Given the description of an element on the screen output the (x, y) to click on. 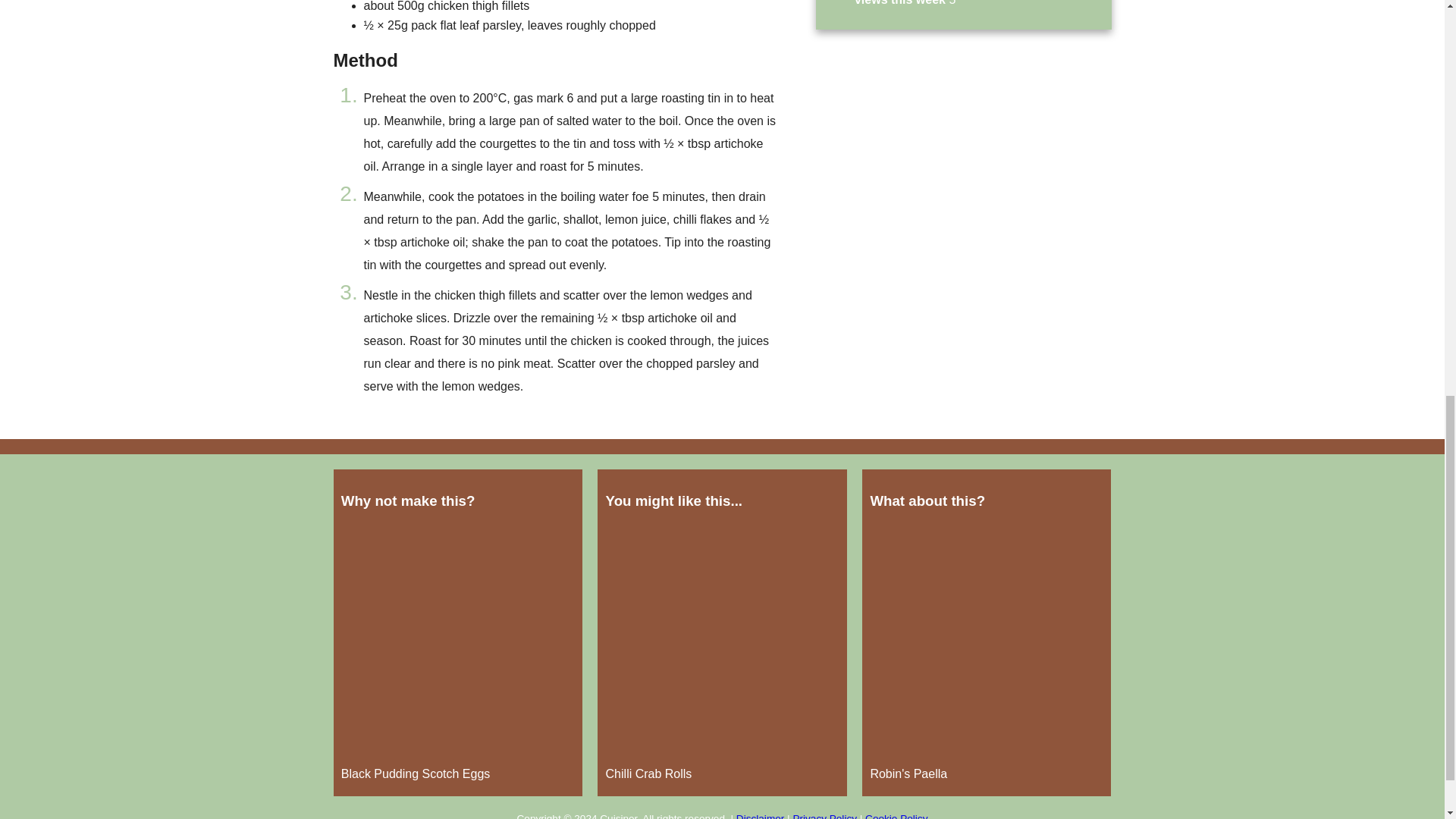
Privacy Policy (824, 816)
Disclaimer (760, 816)
Cookie Policy (895, 816)
